Given the description of an element on the screen output the (x, y) to click on. 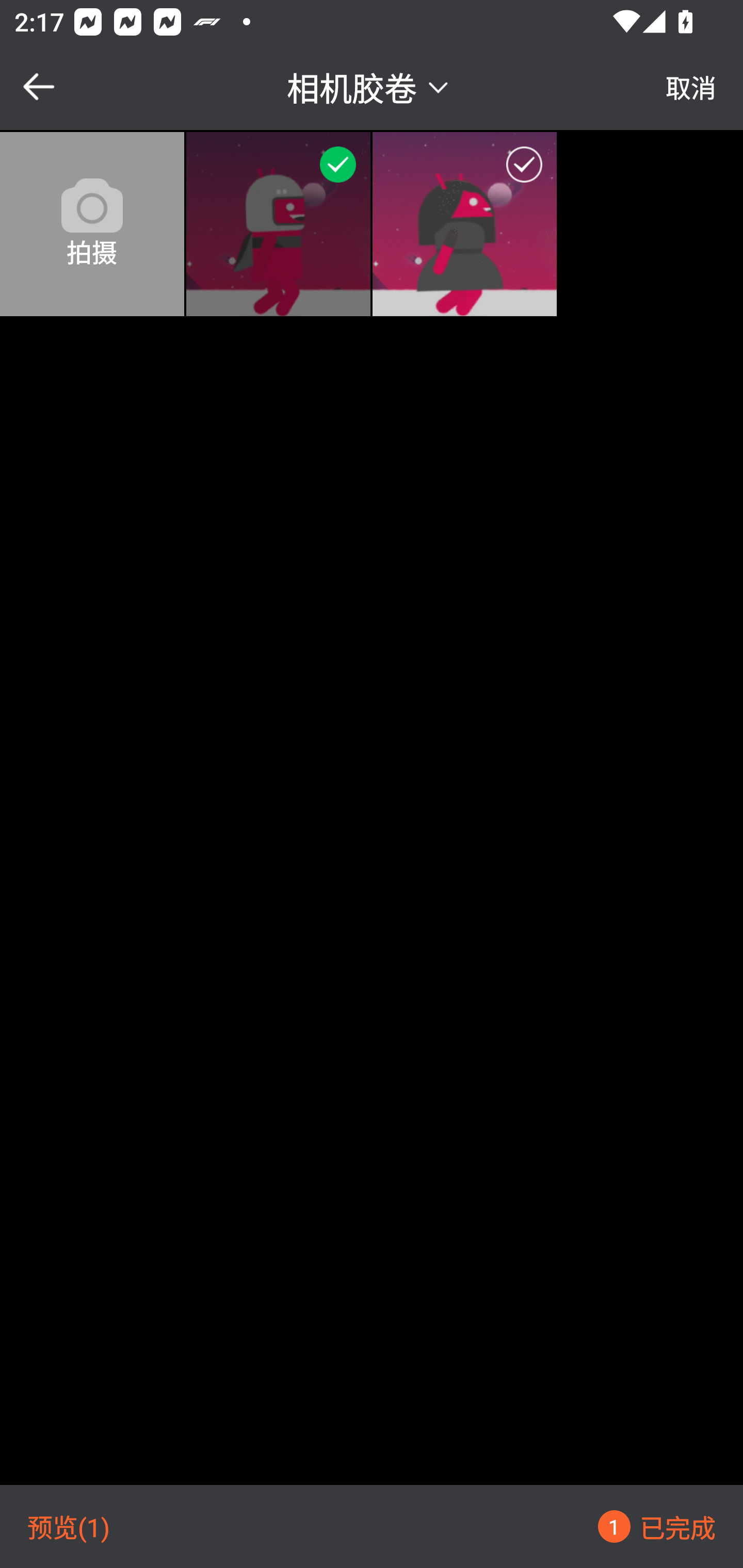
取消 (690, 86)
相机胶卷 (370, 85)
拍摄 (92, 223)
预览(1) (68, 1526)
1 已完成 (656, 1526)
